Given the description of an element on the screen output the (x, y) to click on. 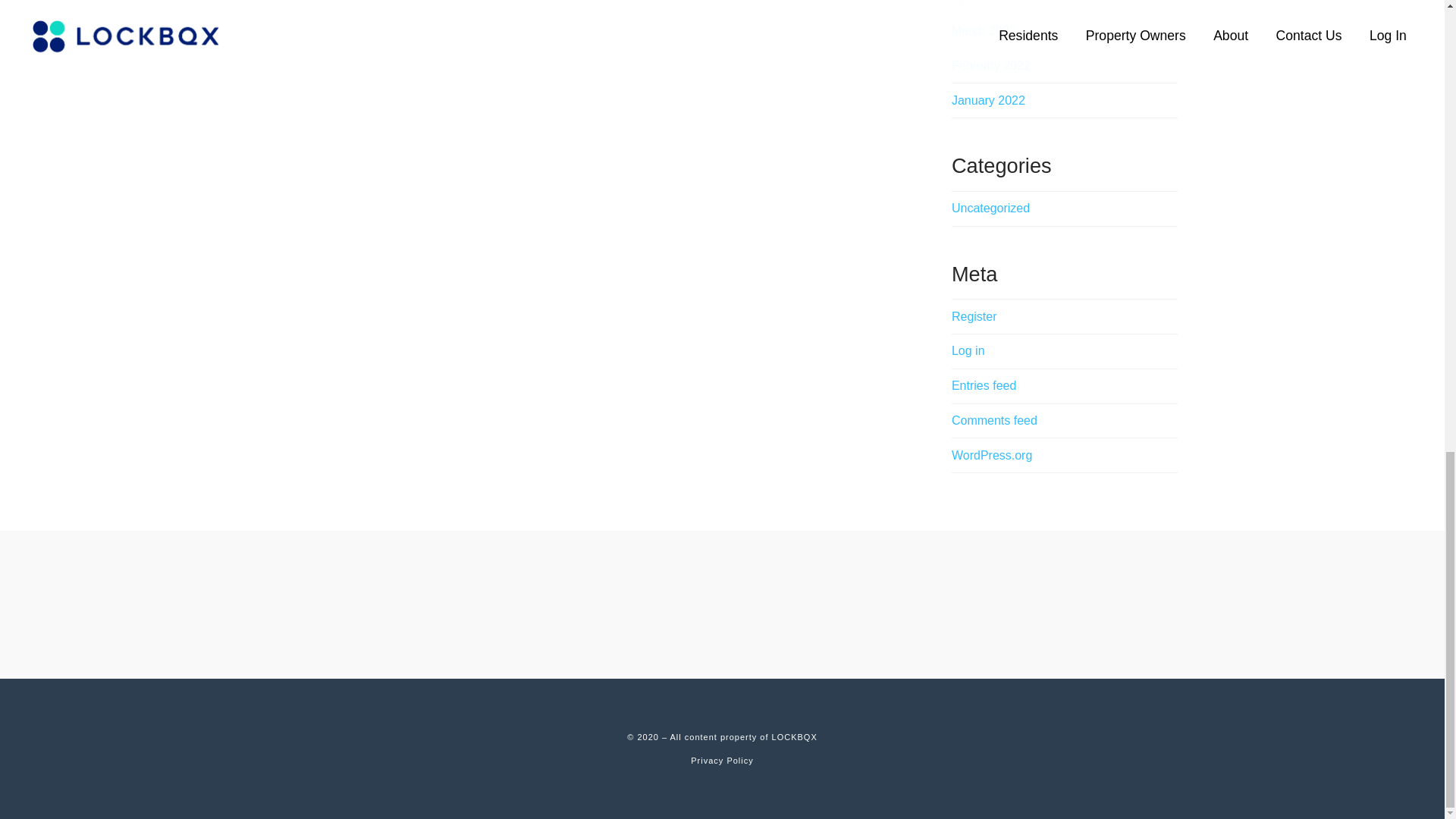
Comments feed (994, 420)
January 2022 (988, 100)
February 2022 (991, 65)
April 2022 (979, 1)
Log in (968, 350)
Privacy Policy (721, 759)
March 2022 (984, 30)
WordPress.org (992, 454)
Register (974, 316)
Entries feed (984, 385)
Uncategorized (990, 208)
